Given the description of an element on the screen output the (x, y) to click on. 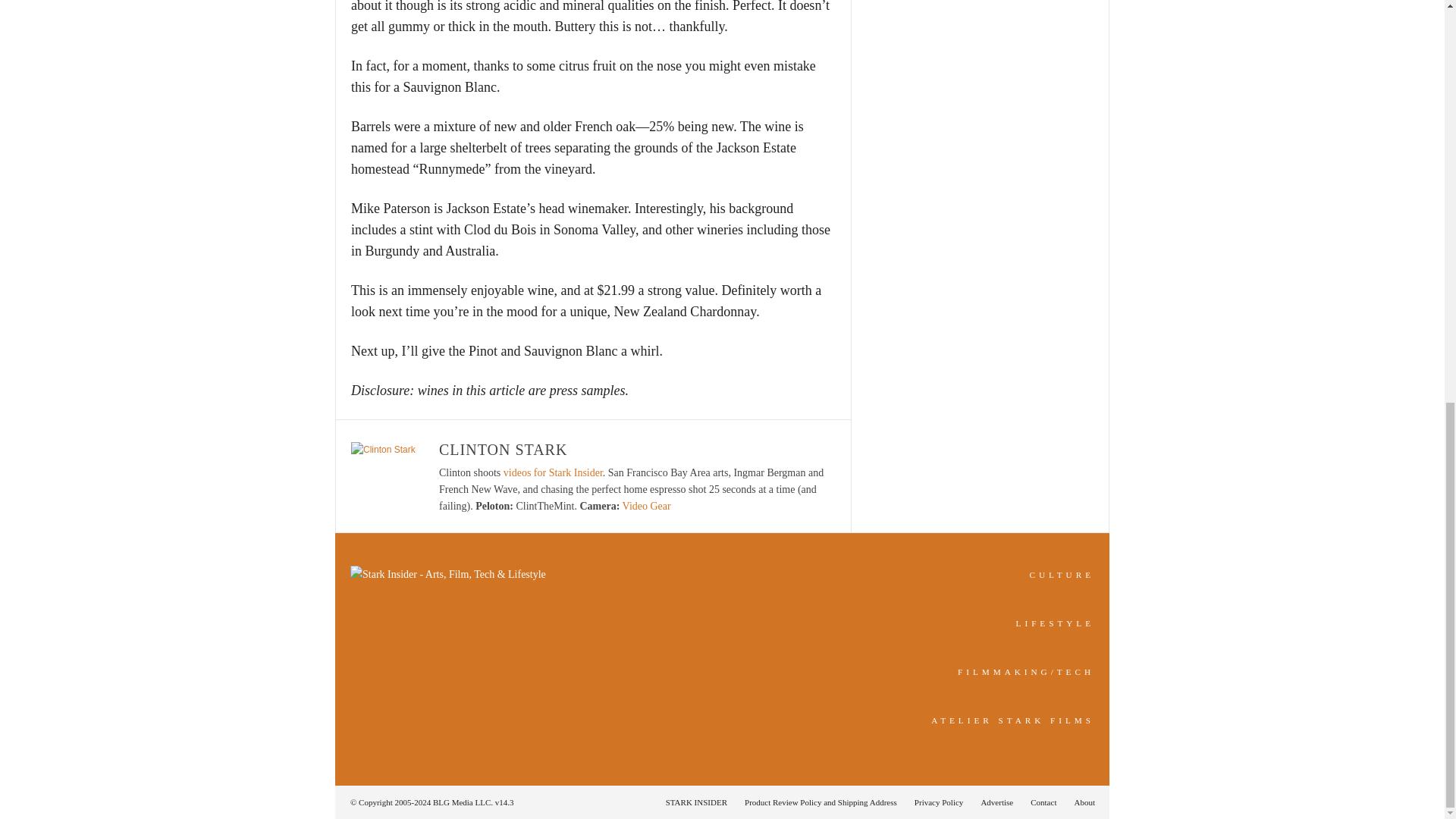
videos for Stark Insider (552, 472)
Product Review Policy and Shipping Address (820, 801)
ATELIER STARK FILMS (1012, 719)
Indie film, music, arts in San Francisco and Silicon Valley (1061, 574)
Video Gear (647, 505)
Privacy Policy (939, 801)
LIFESTYLE (1055, 623)
CLINTON STARK (503, 449)
About (1079, 801)
Advertise (996, 801)
